Given the description of an element on the screen output the (x, y) to click on. 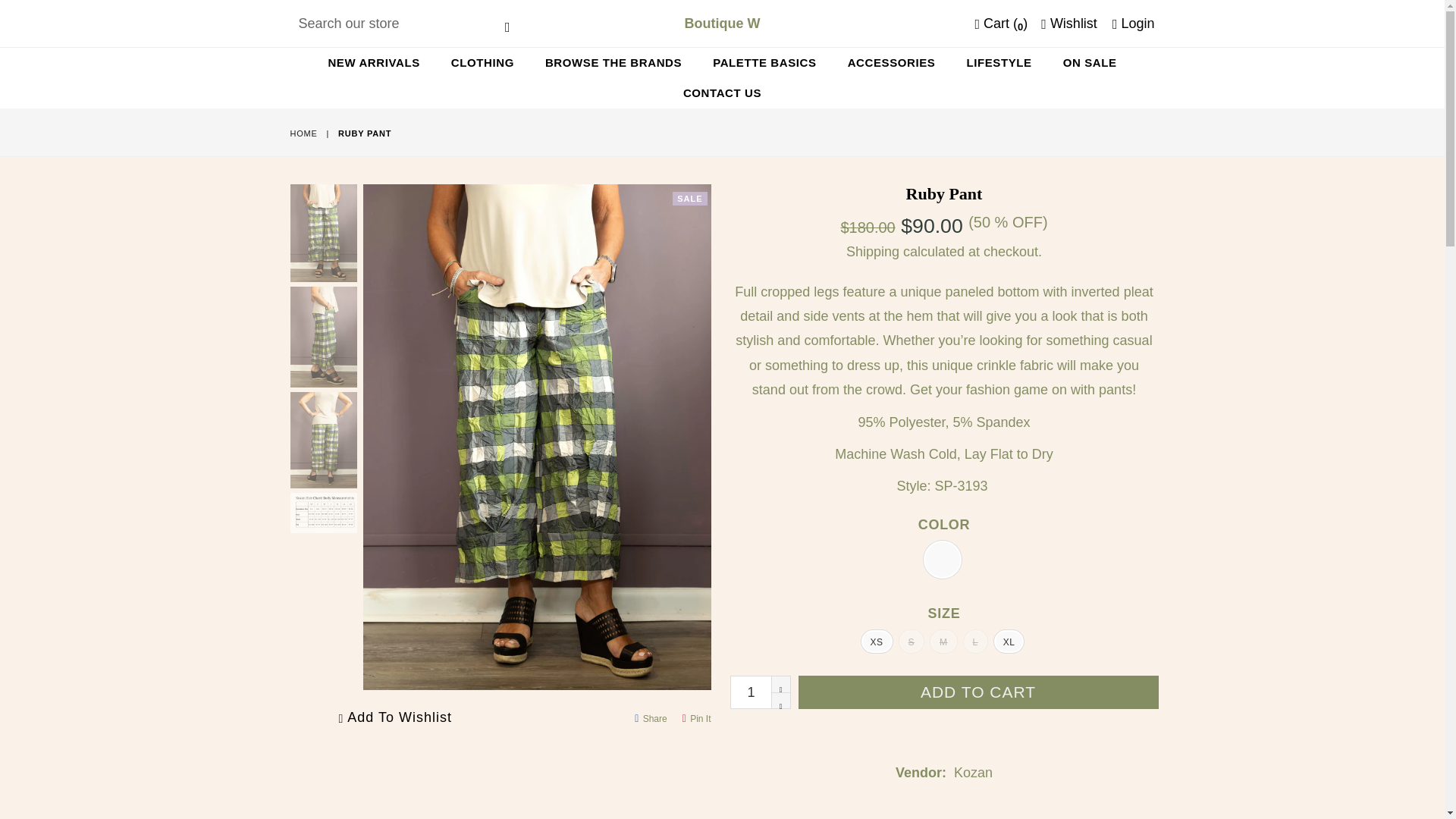
1 (760, 692)
Pin on Pinterest (696, 718)
Login (1133, 23)
Wishlist (1069, 23)
Cart (1000, 23)
Back to the home page (303, 133)
Share on Facebook (650, 718)
Add to Wishlist (394, 717)
